Given the description of an element on the screen output the (x, y) to click on. 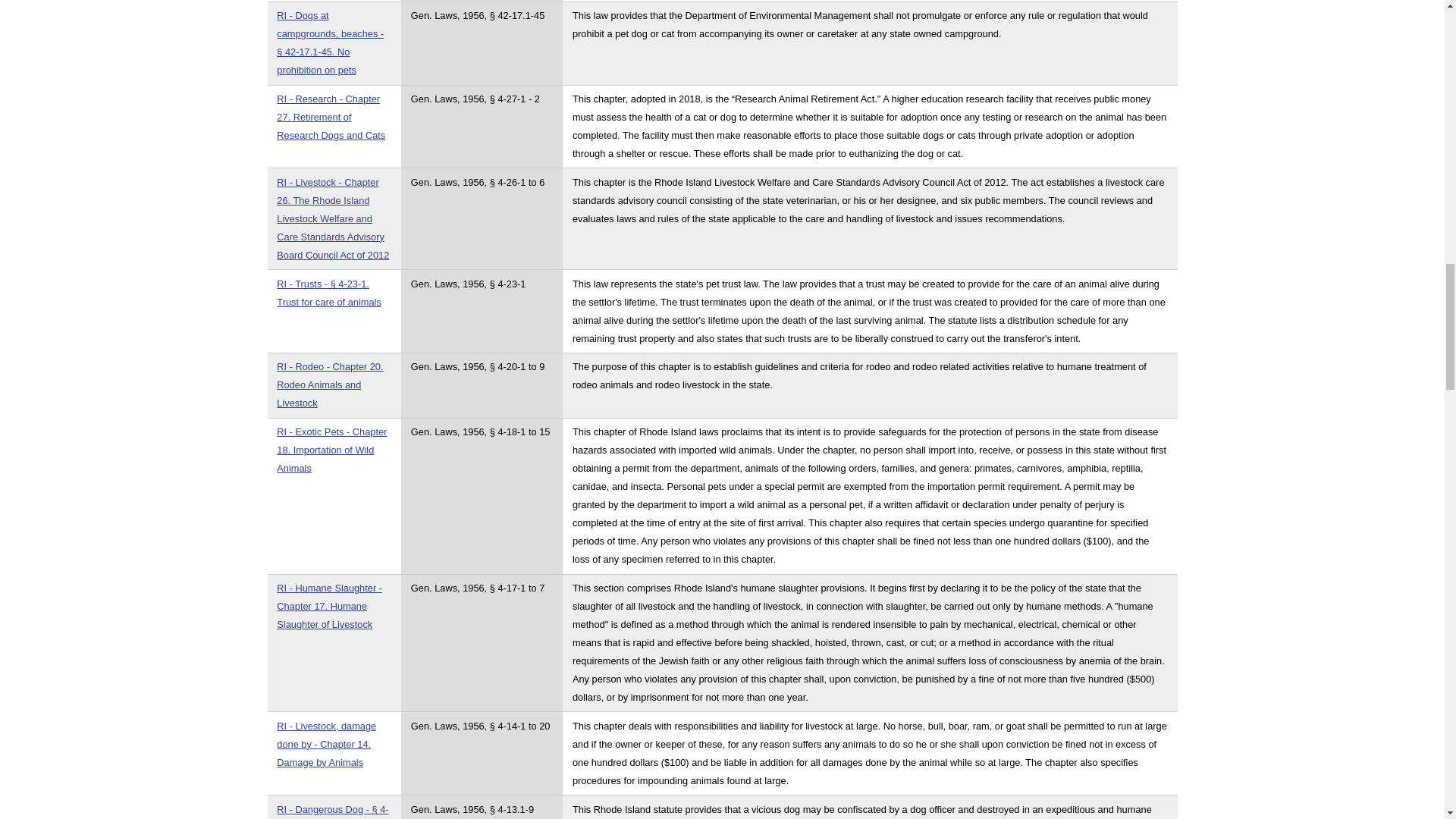
RI - Rodeo - Chapter 20. Rodeo Animals and Livestock (329, 384)
RI - Exotic Pets - Chapter 18. Importation of Wild Animals (331, 449)
